Given the description of an element on the screen output the (x, y) to click on. 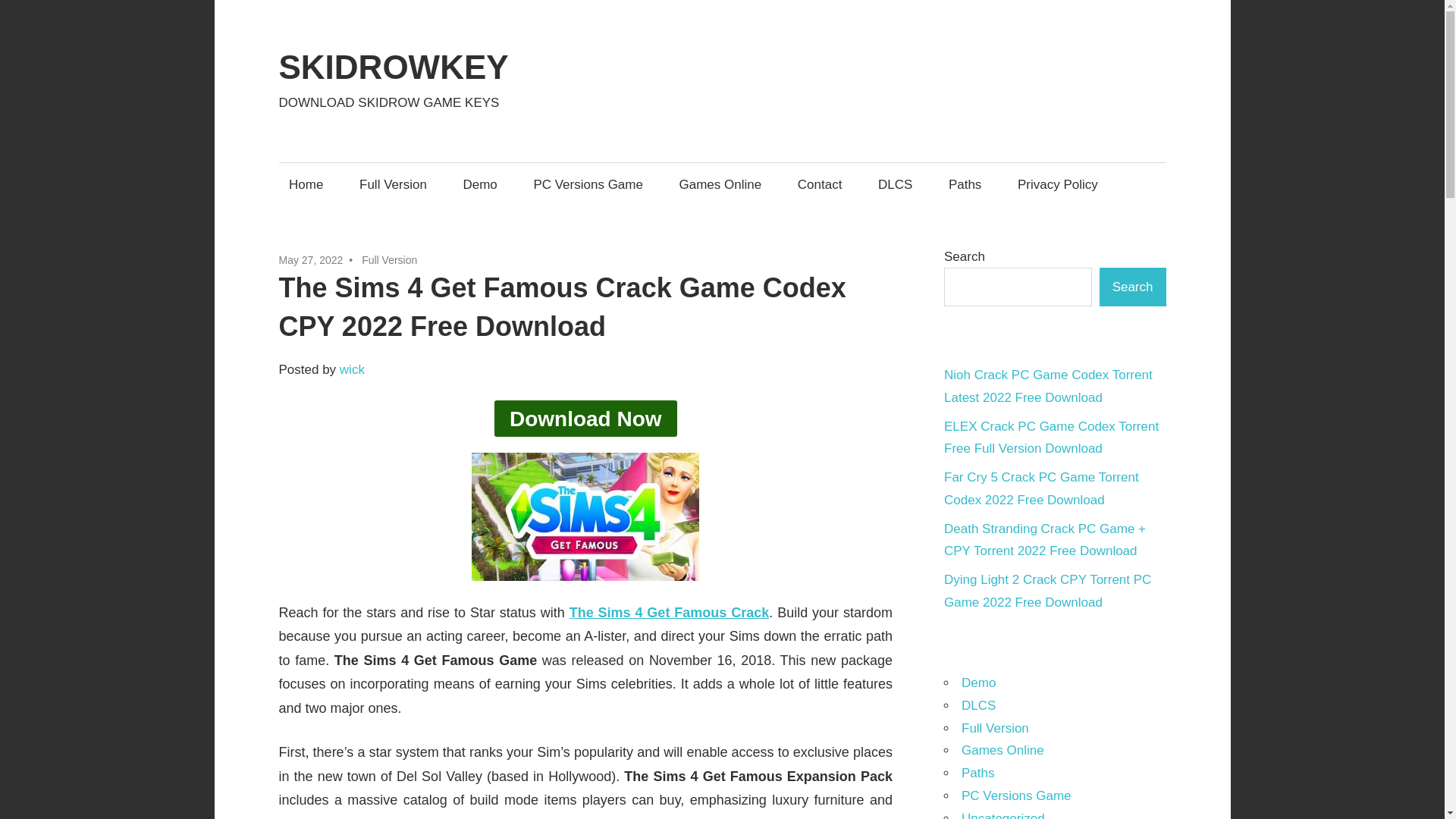
View all posts by wick (352, 369)
The Sims 4 Get Famous Crack (669, 612)
Full Version (392, 184)
DLCS (895, 184)
wick (352, 369)
Privacy Policy (1057, 184)
SKIDROWKEY (393, 66)
Demo (480, 184)
Paths (964, 184)
Home (306, 184)
Full Version (388, 259)
Download Now (586, 418)
May 27, 2022 (311, 259)
PC Versions Game (587, 184)
Games Online (719, 184)
